Given the description of an element on the screen output the (x, y) to click on. 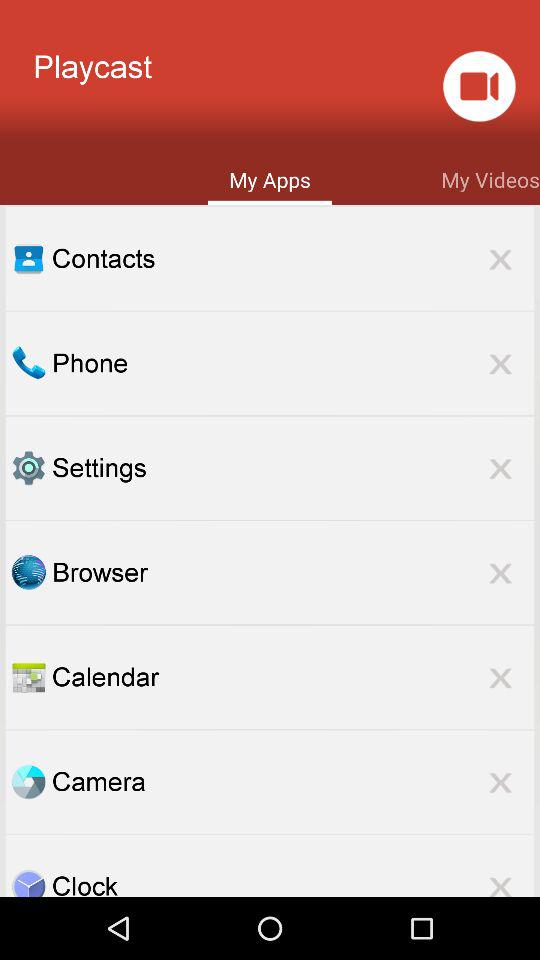
turn off camera item (293, 781)
